Given the description of an element on the screen output the (x, y) to click on. 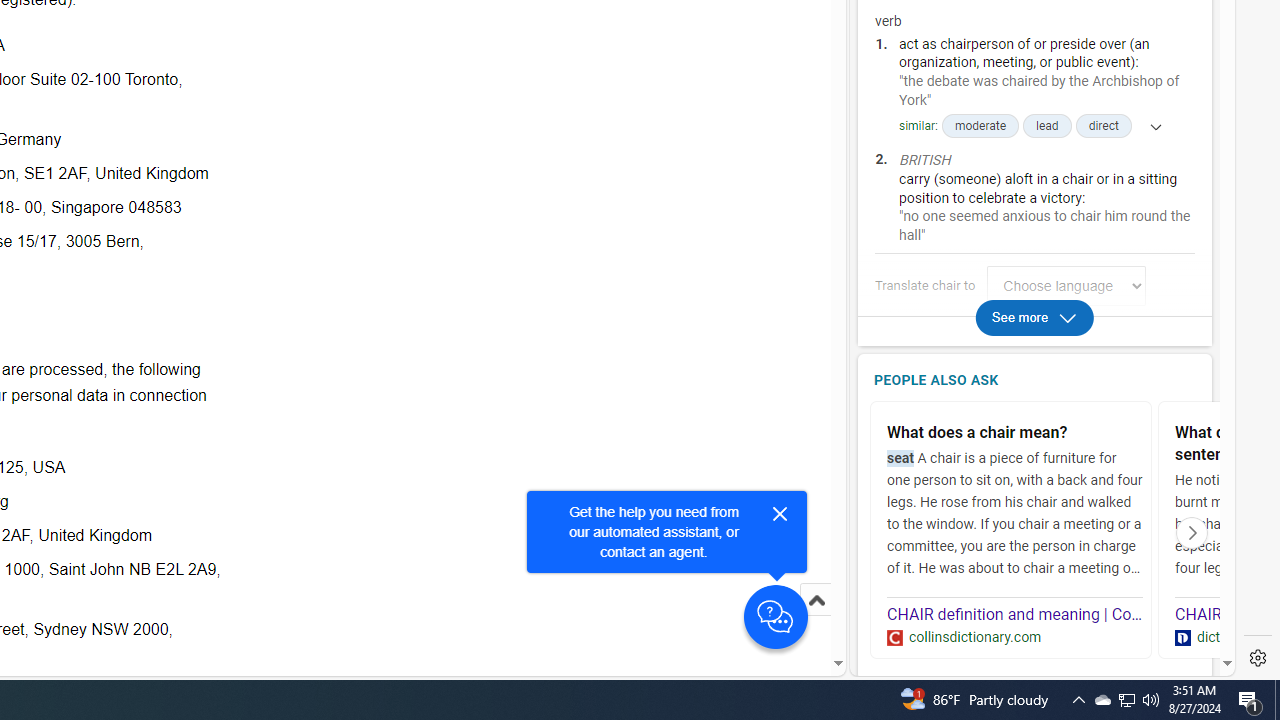
Link for logging (1072, 285)
direct (1103, 125)
Show more (1149, 125)
